Given the description of an element on the screen output the (x, y) to click on. 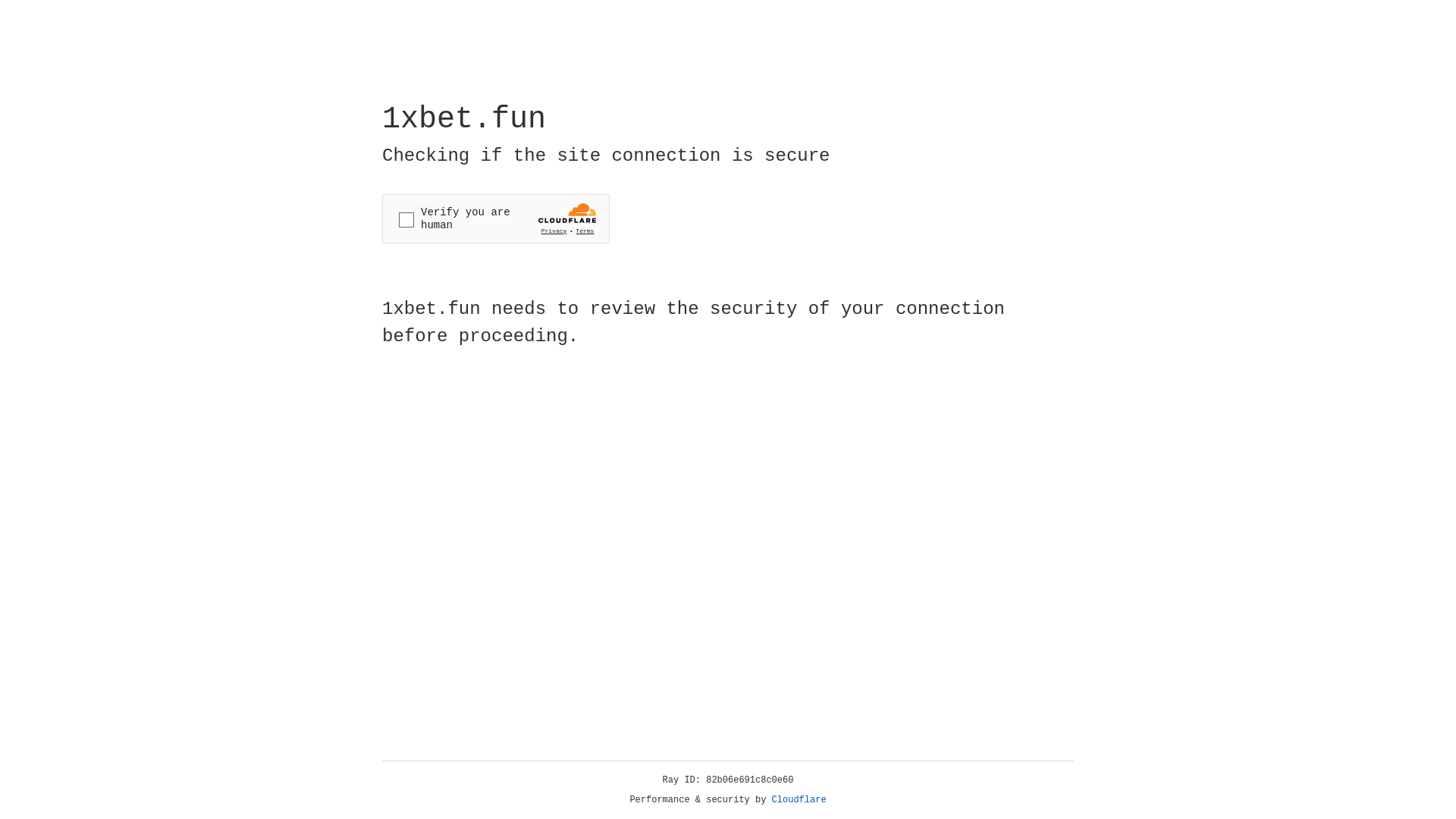
Widget containing a Cloudflare security challenge Element type: hover (495, 218)
Cloudflare Element type: text (798, 799)
